Given the description of an element on the screen output the (x, y) to click on. 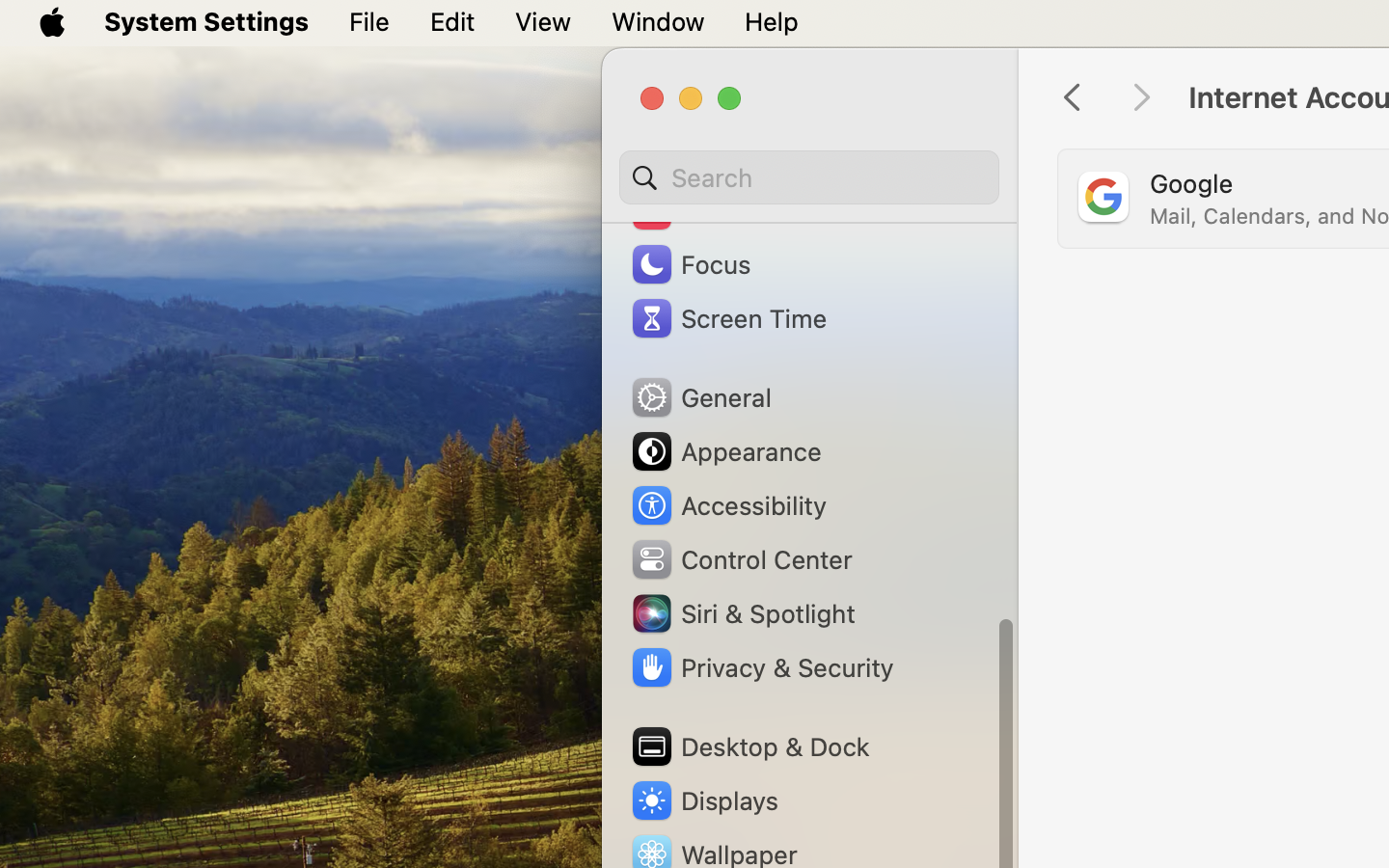
Desktop & Dock Element type: AXStaticText (749, 746)
Screen Time Element type: AXStaticText (727, 318)
Control Center Element type: AXStaticText (740, 559)
General Element type: AXStaticText (699, 397)
Sound Element type: AXStaticText (692, 210)
